Given the description of an element on the screen output the (x, y) to click on. 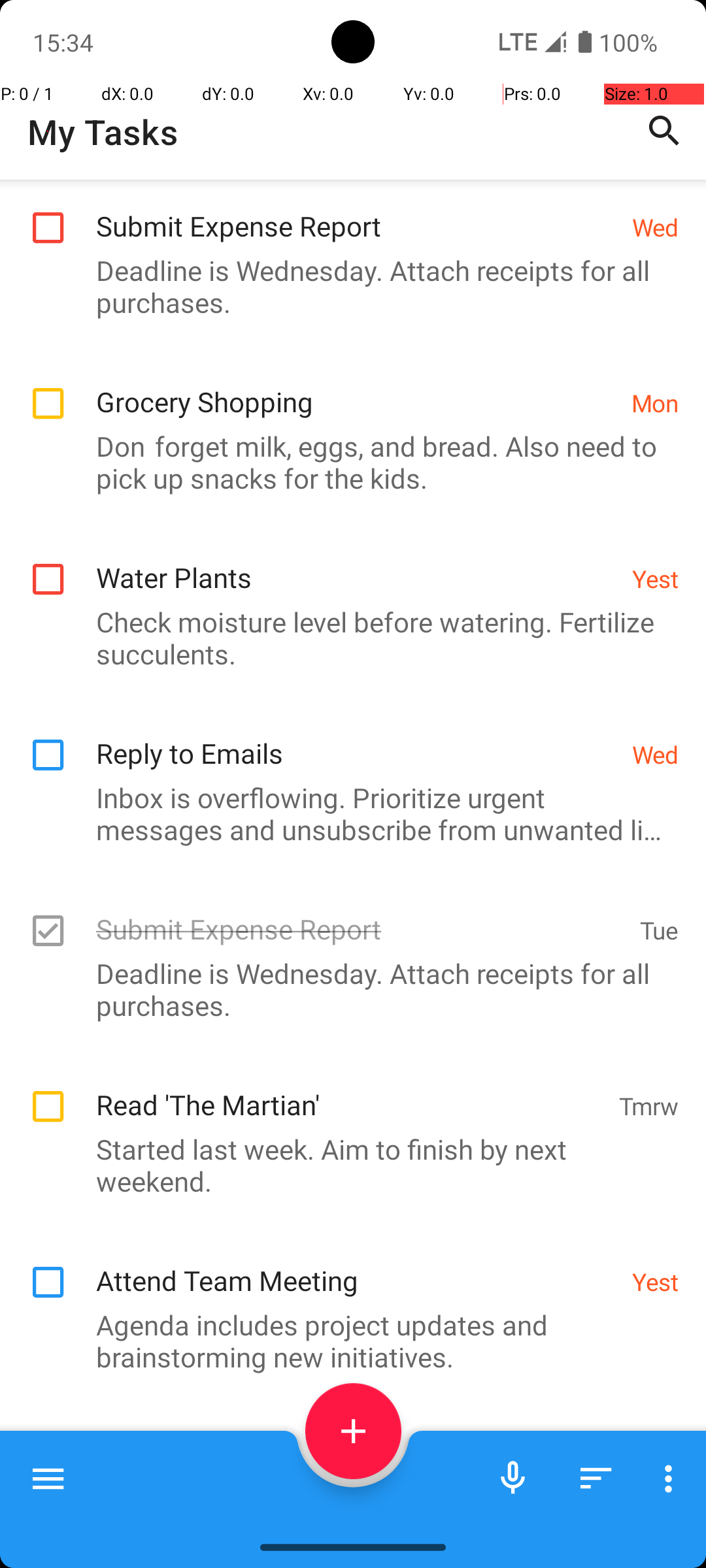
Deadline is Wednesday. Attach receipts for all purchases. Element type: android.widget.TextView (346, 285)
Don	 forget milk, eggs, and bread. Also need to pick up snacks for the kids. Element type: android.widget.TextView (346, 461)
Inbox is overflowing. Prioritize urgent messages and unsubscribe from unwanted lists. Element type: android.widget.TextView (346, 813)
